Given the description of an element on the screen output the (x, y) to click on. 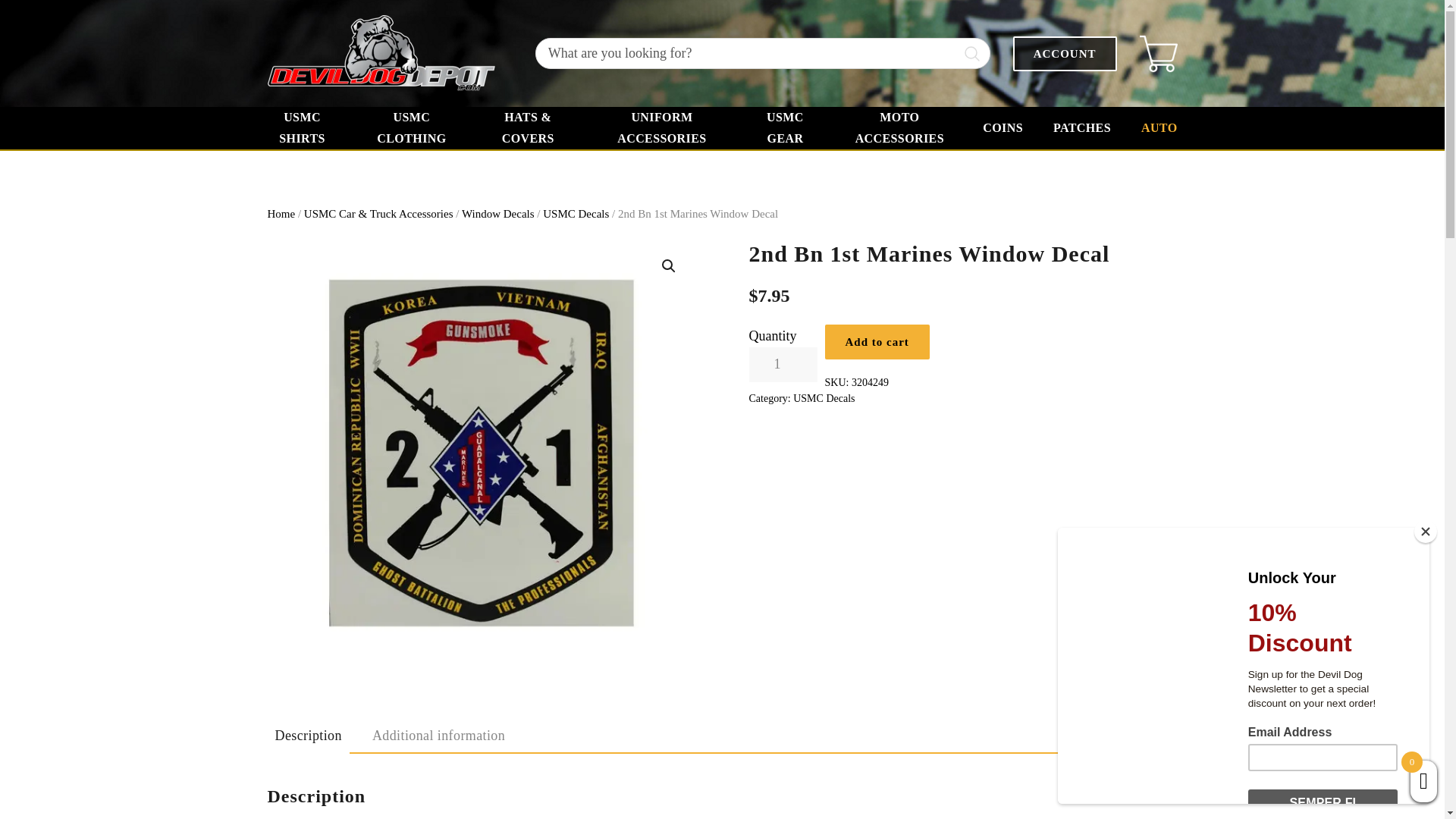
1 (782, 364)
